Given the description of an element on the screen output the (x, y) to click on. 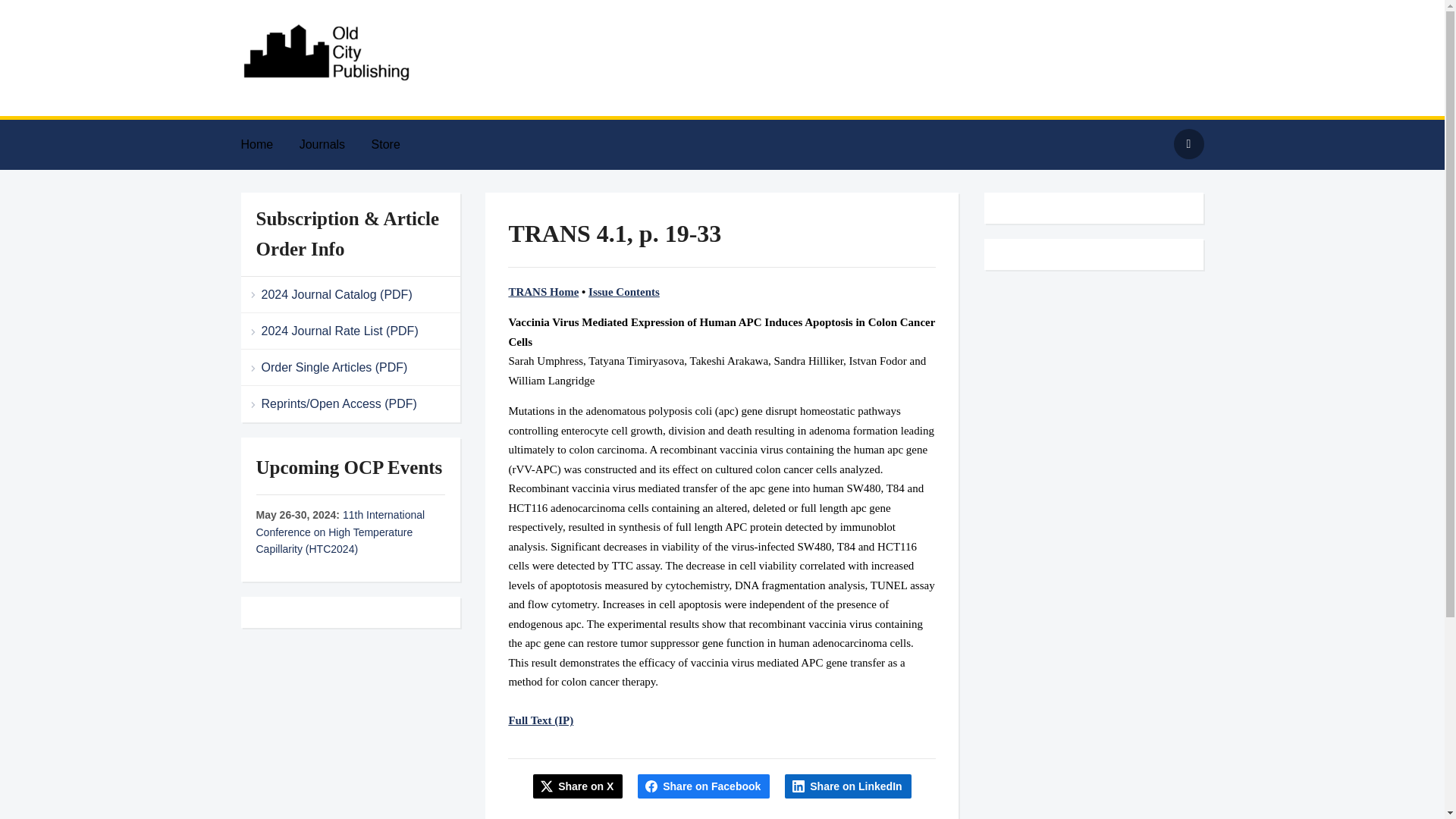
Issue Contents (623, 291)
Home (269, 144)
TRANS Home (543, 291)
Share this on X (577, 785)
Search (1188, 143)
Share this on Facebook (703, 785)
Share on X (577, 785)
Journals (333, 144)
Store (397, 144)
Share on LinkedIn (847, 785)
Share on Facebook (703, 785)
Share on LinkedIn (847, 785)
